Given the description of an element on the screen output the (x, y) to click on. 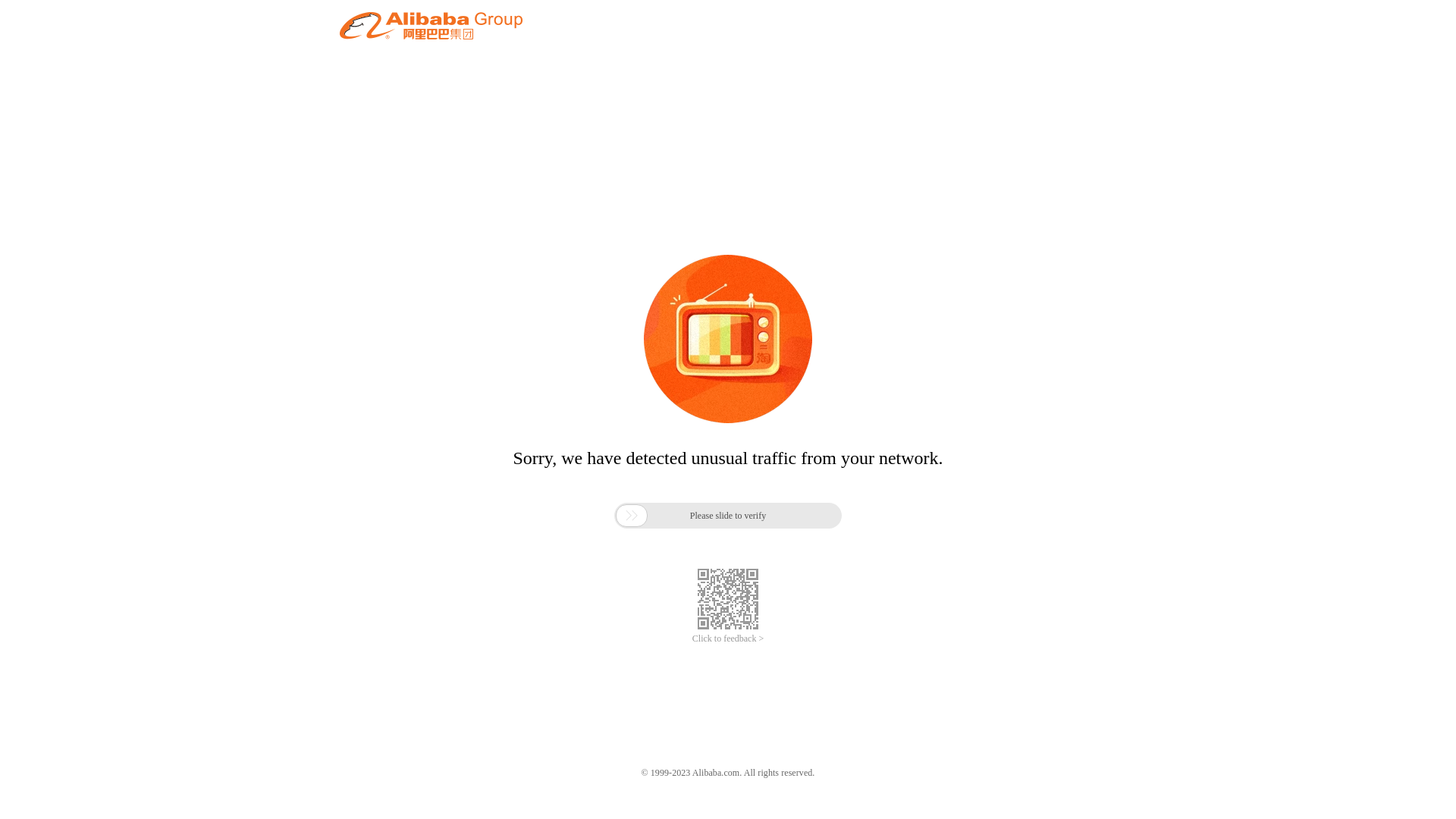
Click to feedback > Element type: text (727, 638)
